Given the description of an element on the screen output the (x, y) to click on. 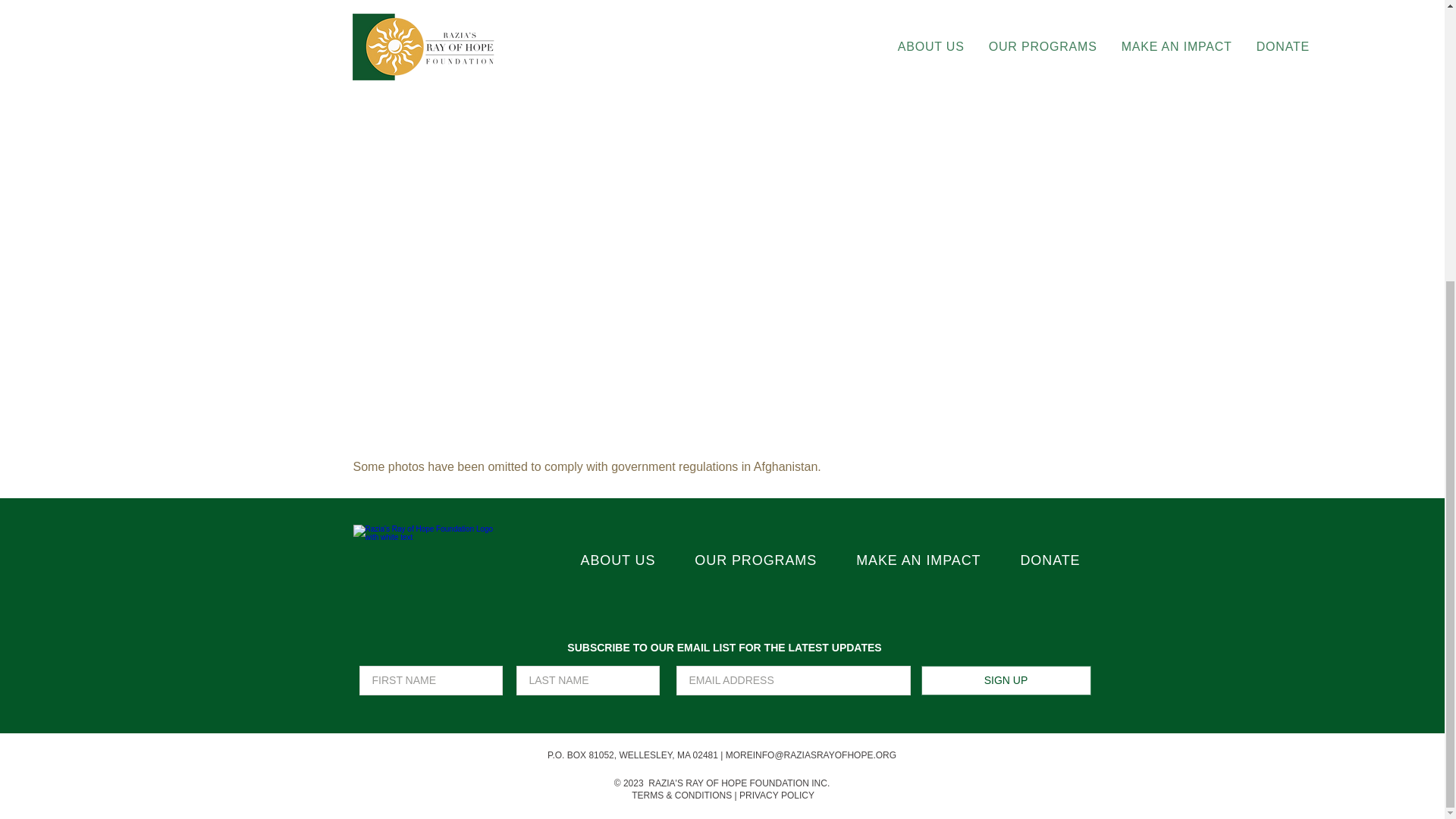
ABOUT US (618, 560)
